Given the description of an element on the screen output the (x, y) to click on. 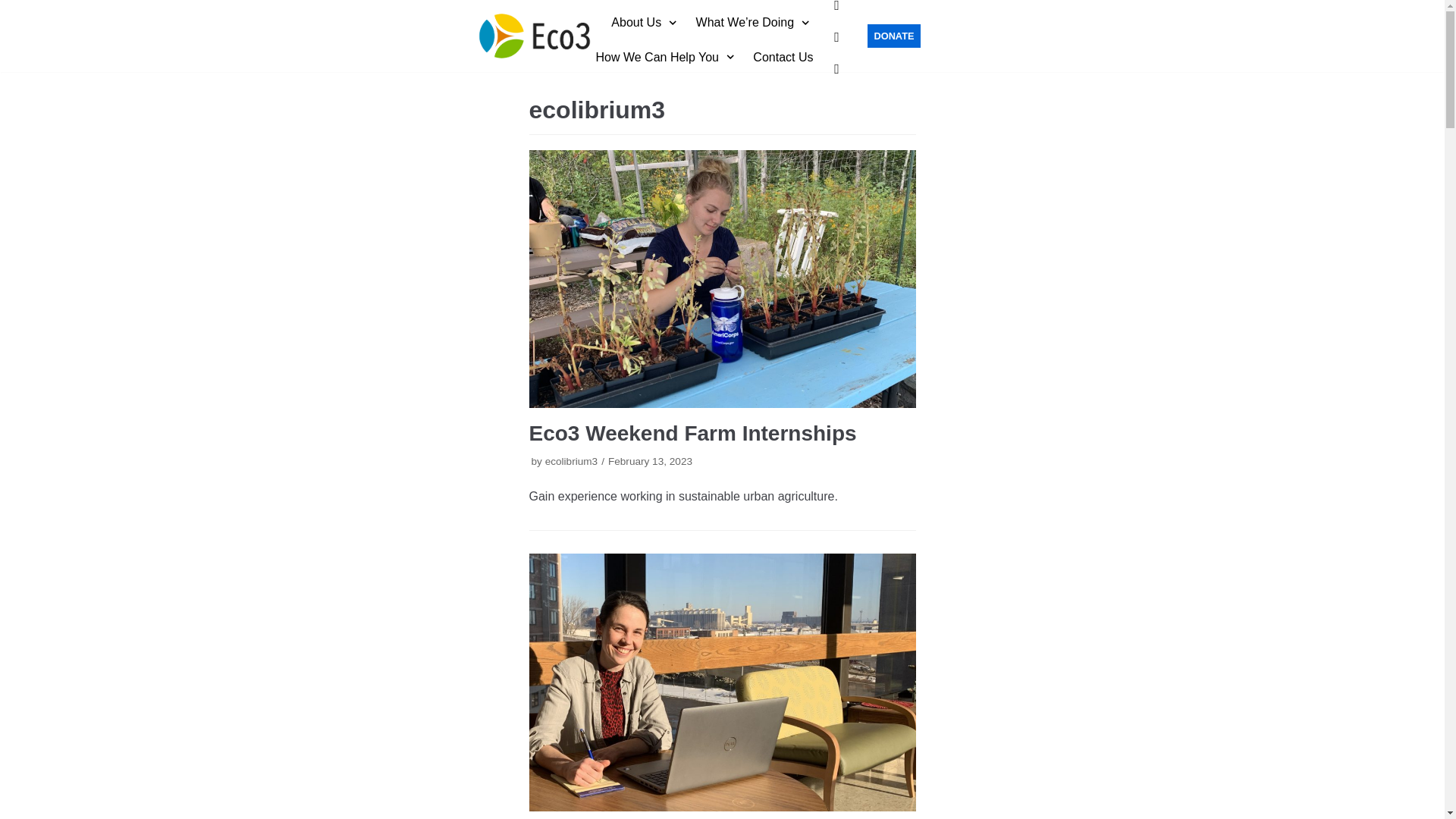
New Staff Feature: Sarah (722, 682)
Skip to content (15, 7)
How We Can Help You (666, 56)
Eco3 Weekend Farm Internships (722, 278)
About Us (645, 22)
Twitter (836, 35)
Posts by ecolibrium3 (571, 460)
Contact Us (782, 56)
DONATE (893, 35)
Instagram (836, 67)
Facebook (836, 5)
